Given the description of an element on the screen output the (x, y) to click on. 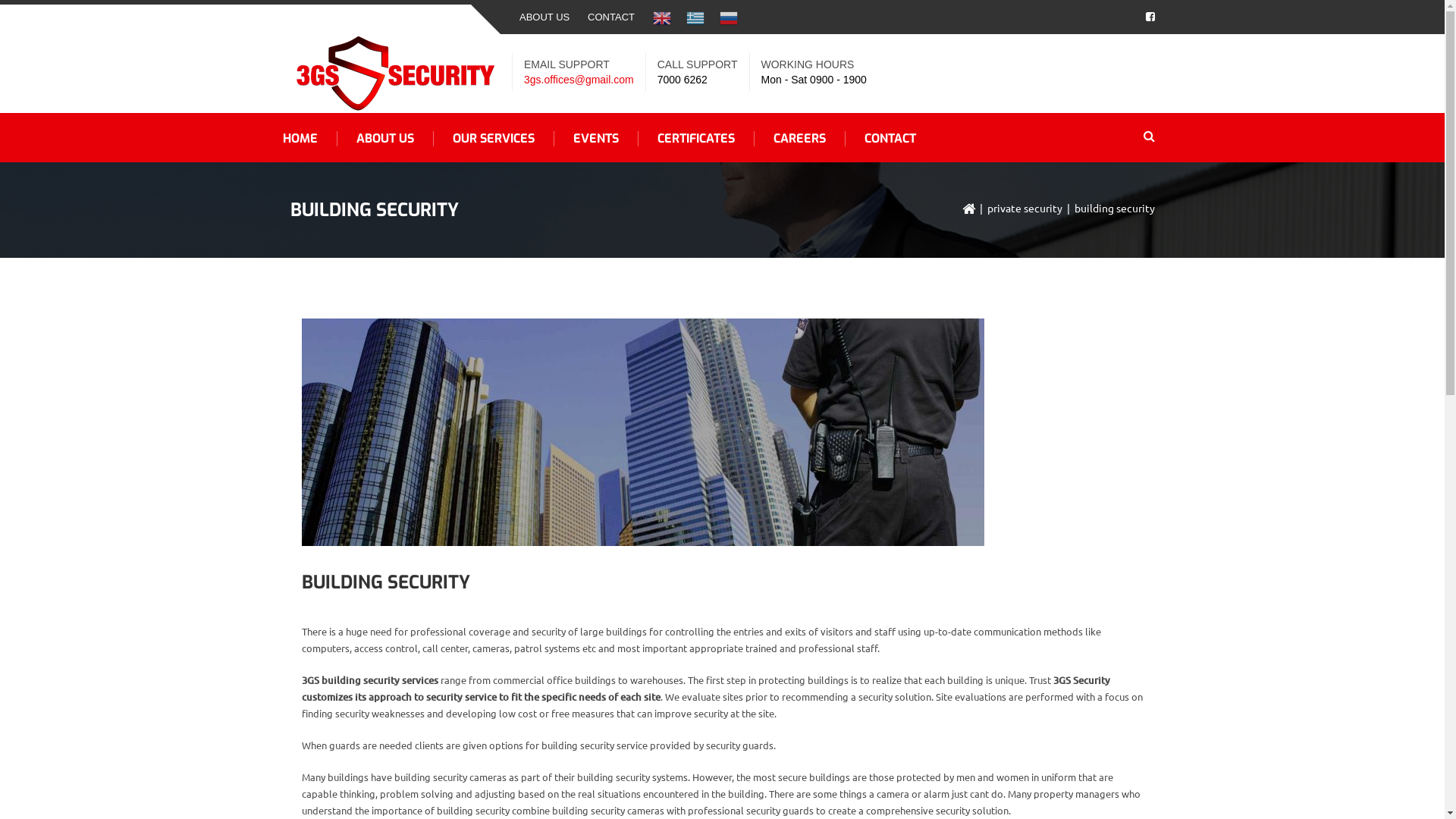
EVENTS Element type: text (595, 138)
Russian Element type: hover (728, 17)
building security Element type: hover (642, 432)
CERTIFICATES Element type: text (696, 138)
CONTACT Element type: text (889, 138)
HOME Element type: text (300, 138)
OUR SERVICES Element type: text (493, 138)
English Element type: hover (661, 17)
CAREERS Element type: text (798, 138)
3gs.offices@gmail.com Element type: text (578, 79)
Greek Element type: hover (695, 17)
ABOUT US Element type: text (384, 138)
private security Element type: text (1024, 207)
ABOUT US Element type: text (544, 17)
CONTACT Element type: text (610, 17)
